Given the description of an element on the screen output the (x, y) to click on. 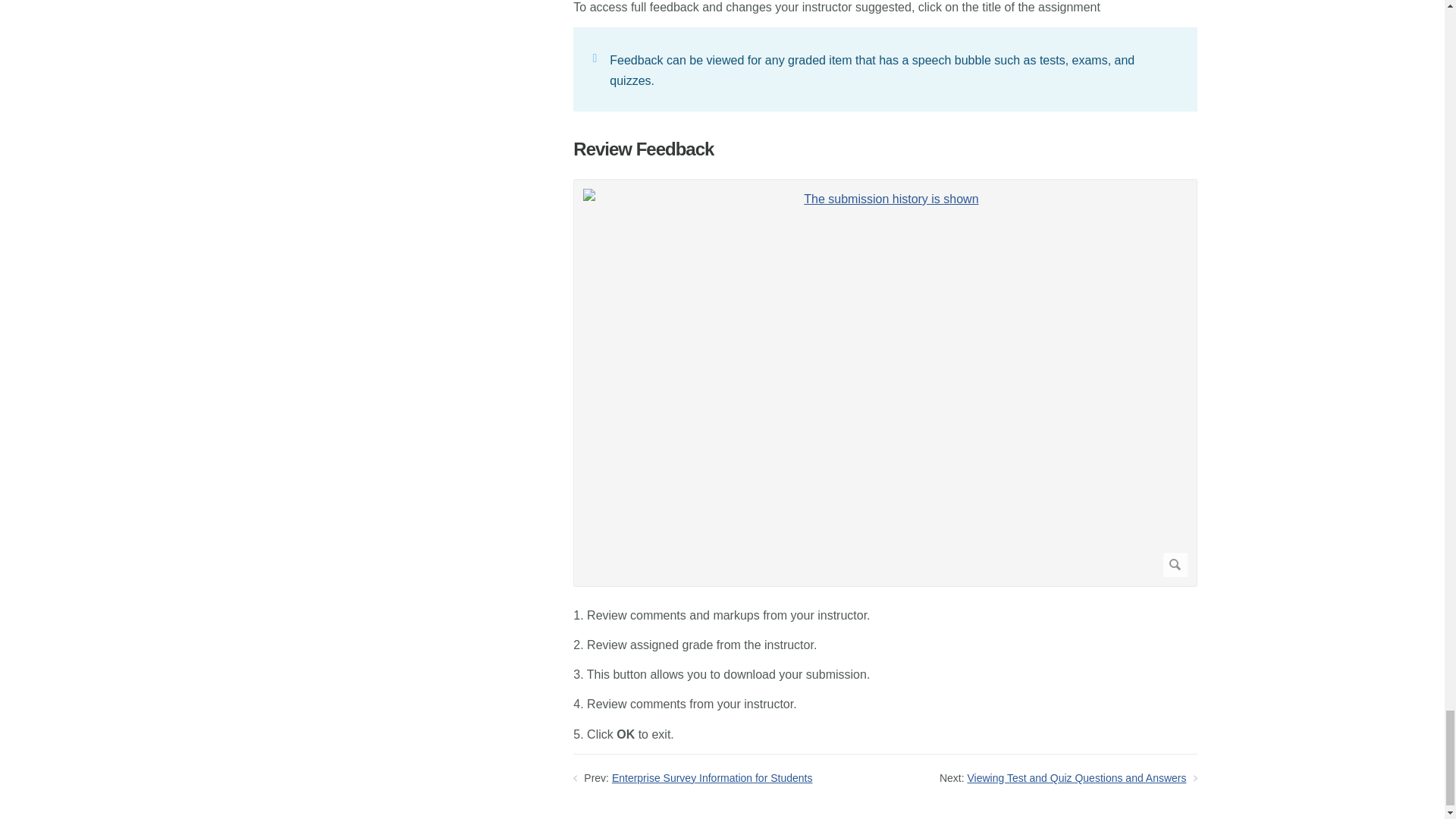
Viewing Test and Quiz Questions and Answers (1077, 777)
Enterprise Survey Information for Students (711, 777)
